Given the description of an element on the screen output the (x, y) to click on. 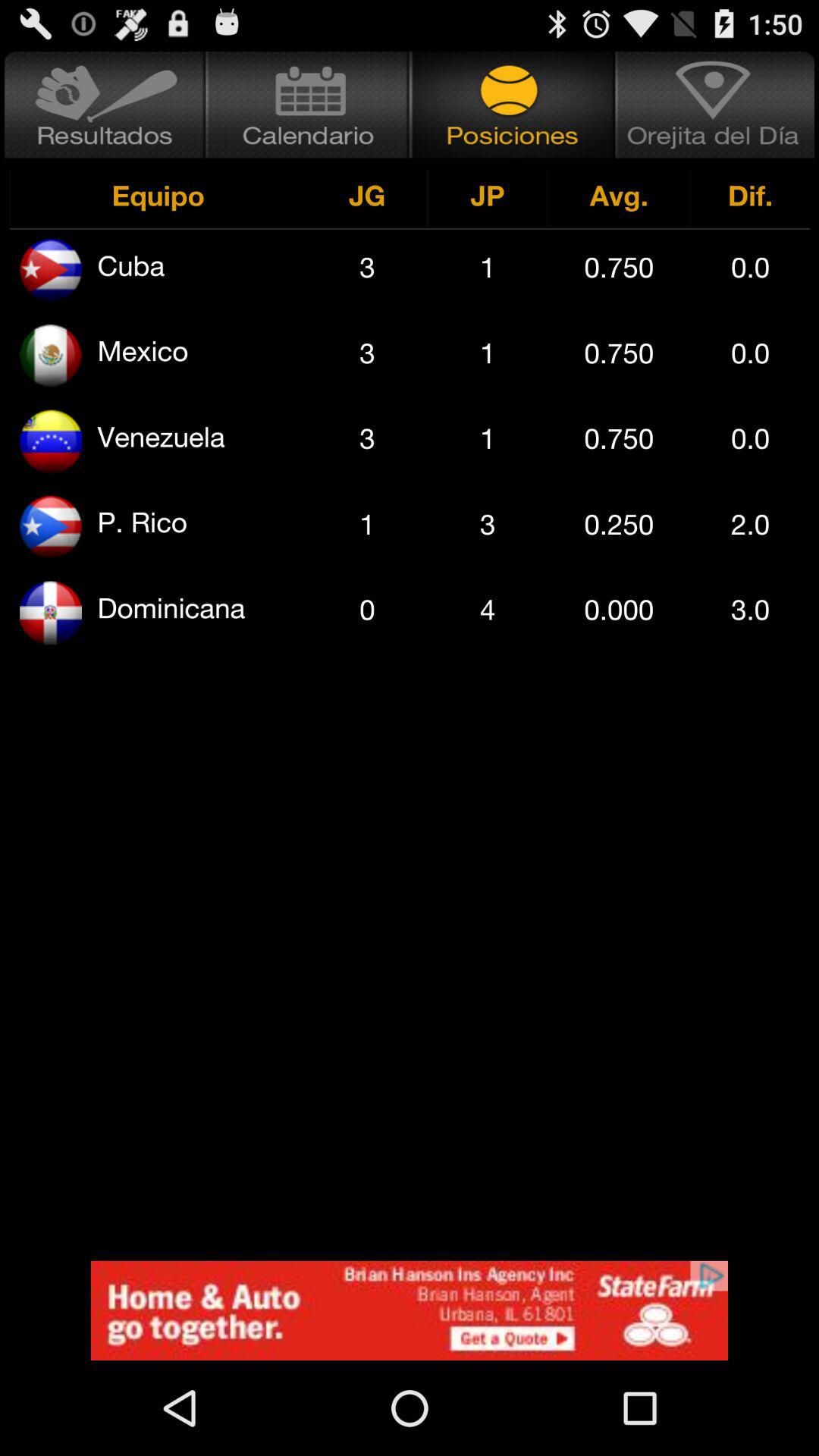
statefarm icon (409, 1310)
